Given the description of an element on the screen output the (x, y) to click on. 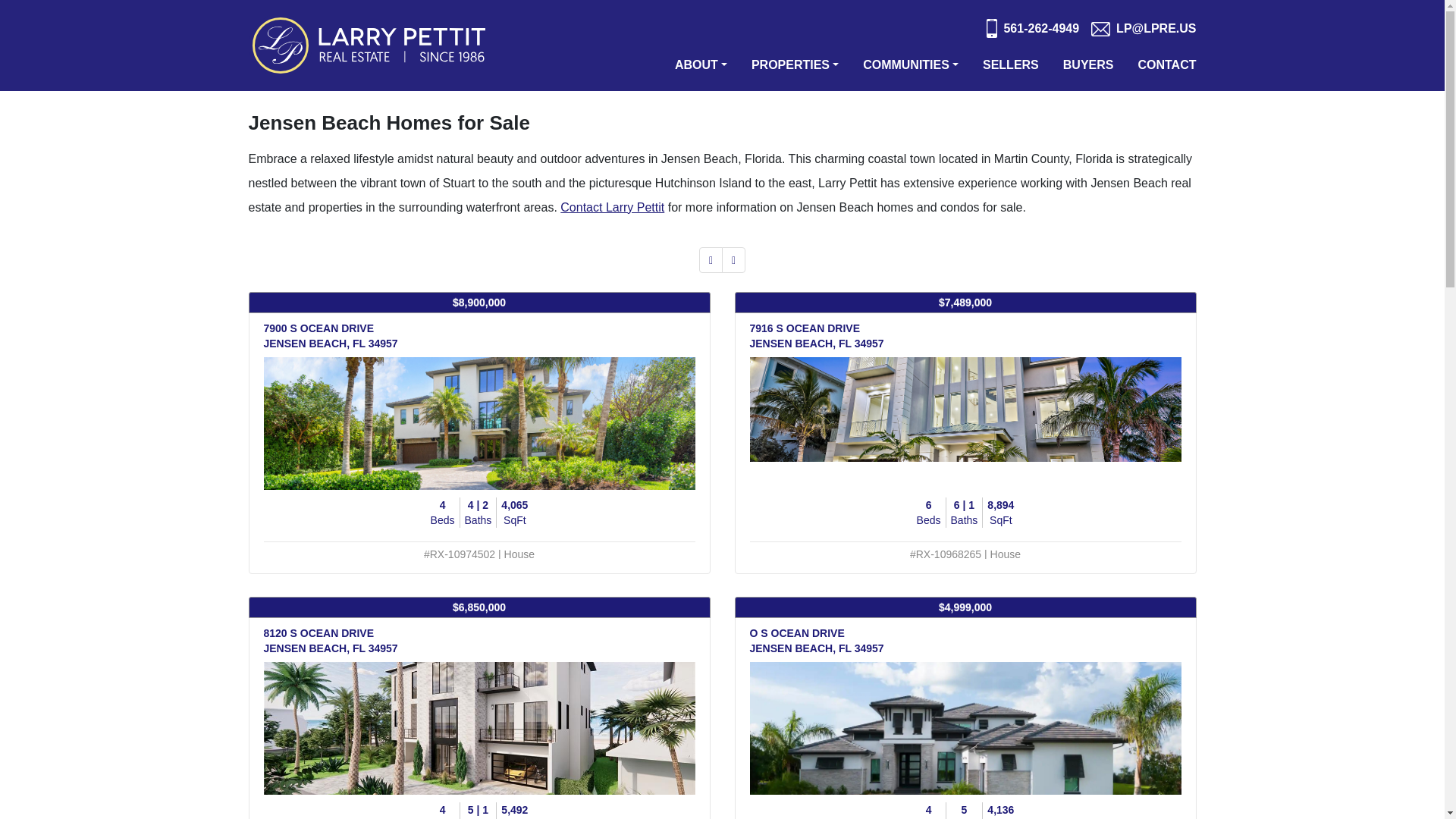
CONTACT (1163, 64)
Properties (794, 64)
561-262-4949 (1032, 28)
SELLERS (1010, 64)
ABOUT (700, 64)
BUYERS (1088, 64)
Contact Larry Pettit (611, 206)
About (700, 64)
COMMUNITIES (910, 64)
PROPERTIES (794, 64)
